Given the description of an element on the screen output the (x, y) to click on. 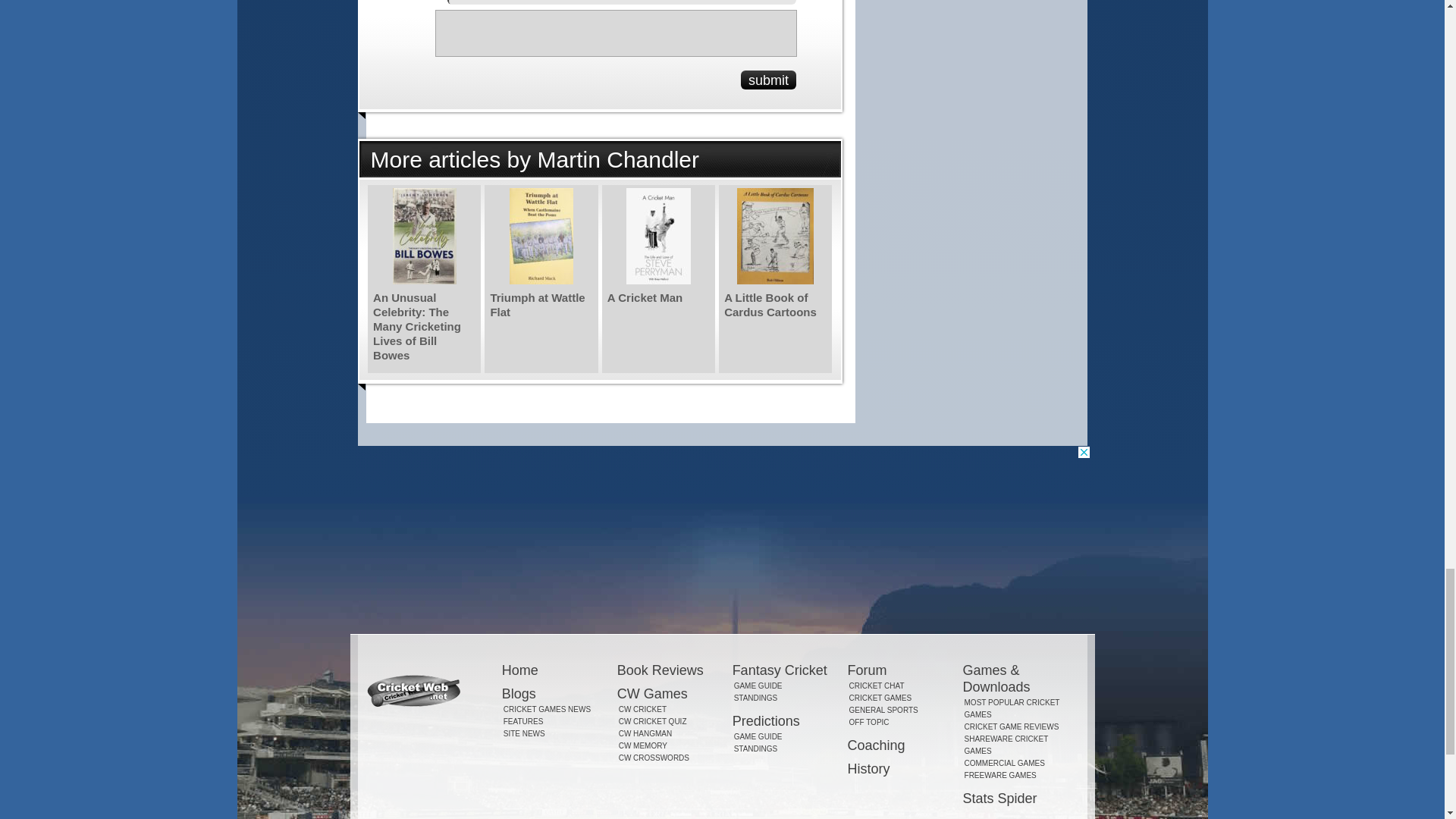
submit (768, 79)
